Given the description of an element on the screen output the (x, y) to click on. 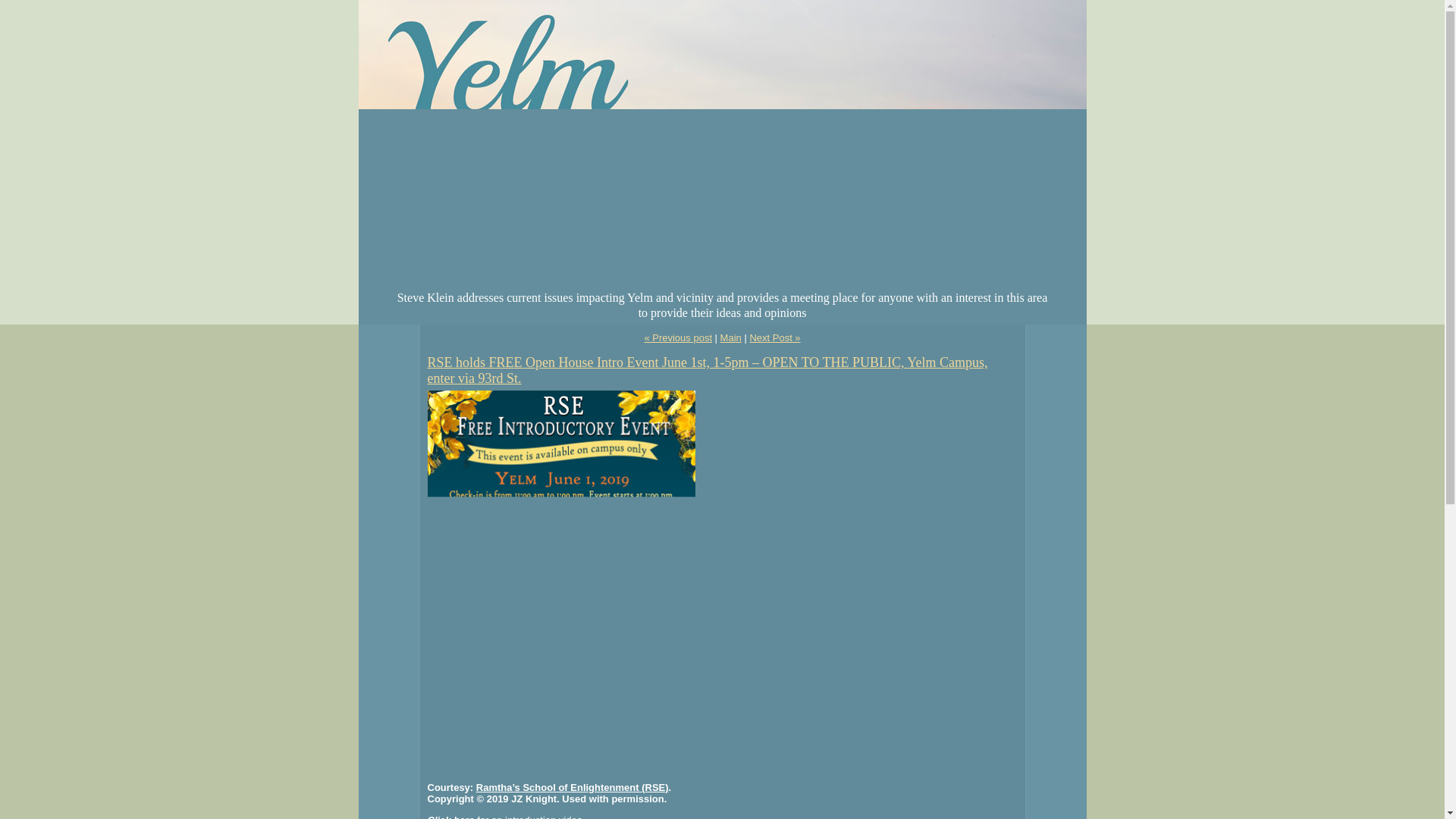
Click here (451, 816)
Main (730, 337)
